Given the description of an element on the screen output the (x, y) to click on. 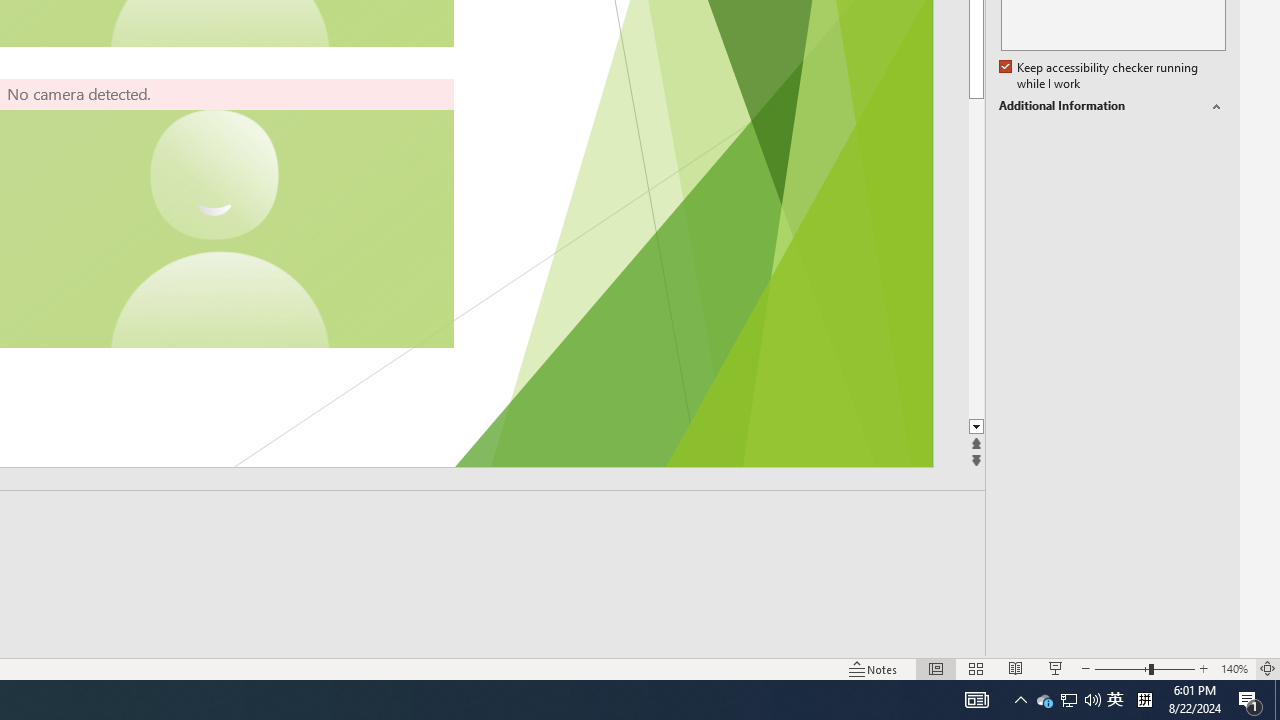
Page down (976, 258)
Additional Information (1112, 106)
Keep accessibility checker running while I work (1099, 76)
Zoom 140% (1234, 668)
